Given the description of an element on the screen output the (x, y) to click on. 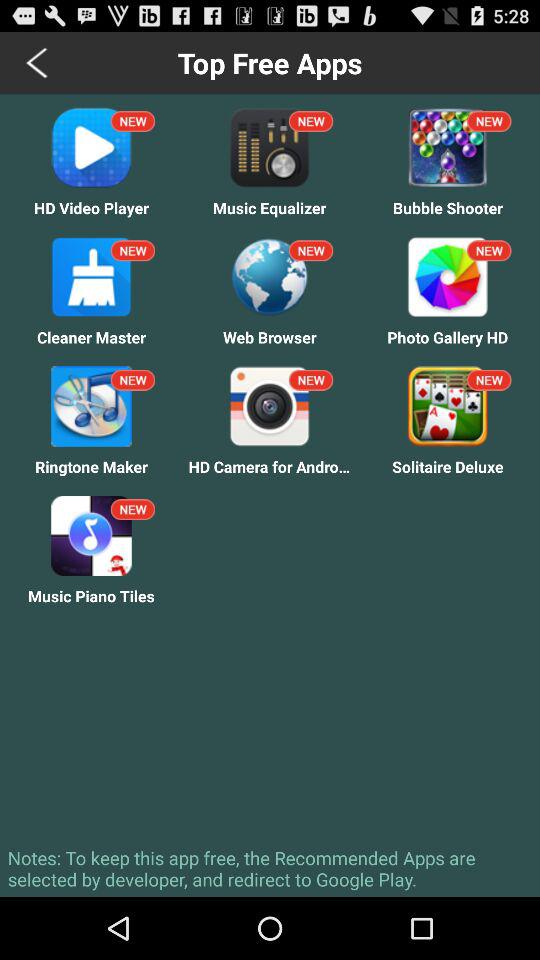
select icon which is above solitaire deluxe (447, 406)
click on the arrow symbol which is on top left corner (37, 63)
select the text new which is at the top of the bubble shooter icon (488, 121)
select the 3rd image from second line (447, 276)
select the text which is present at the top right corner of the first image in the first row (133, 121)
